Given the description of an element on the screen output the (x, y) to click on. 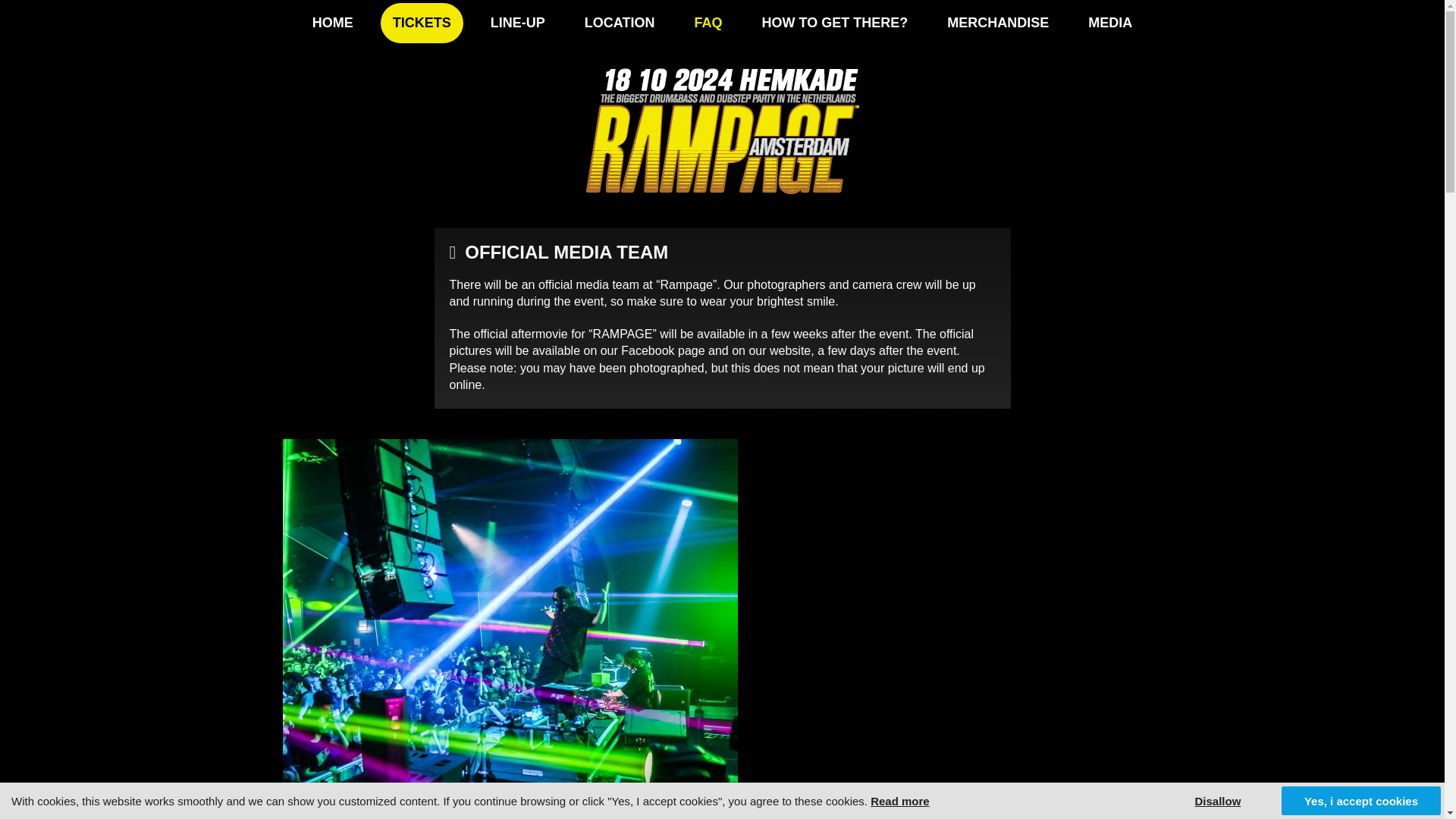
LINE-UP (518, 23)
FAQ (707, 23)
TICKETS (421, 23)
LOCATION (619, 23)
MEDIA (1109, 23)
HOW TO GET THERE? (834, 23)
MERCHANDISE (997, 23)
HOME (332, 23)
OFFICIAL MEDIA TEAM (558, 251)
